Given the description of an element on the screen output the (x, y) to click on. 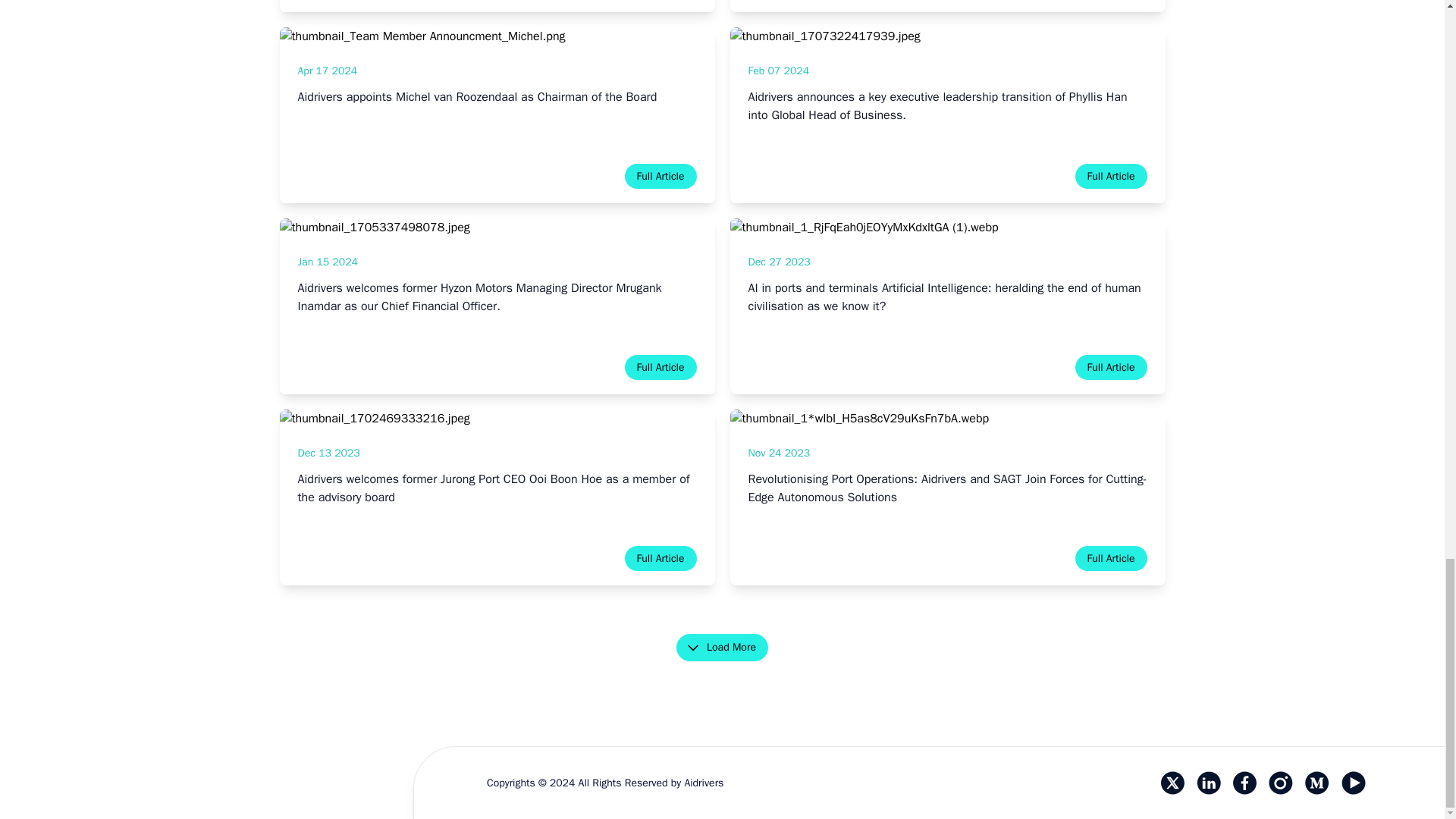
Full Article (1111, 558)
Load More (722, 646)
Full Article (660, 558)
Full Article (1111, 367)
Full Article (660, 367)
Full Article (660, 176)
Full Article (1111, 176)
